Given the description of an element on the screen output the (x, y) to click on. 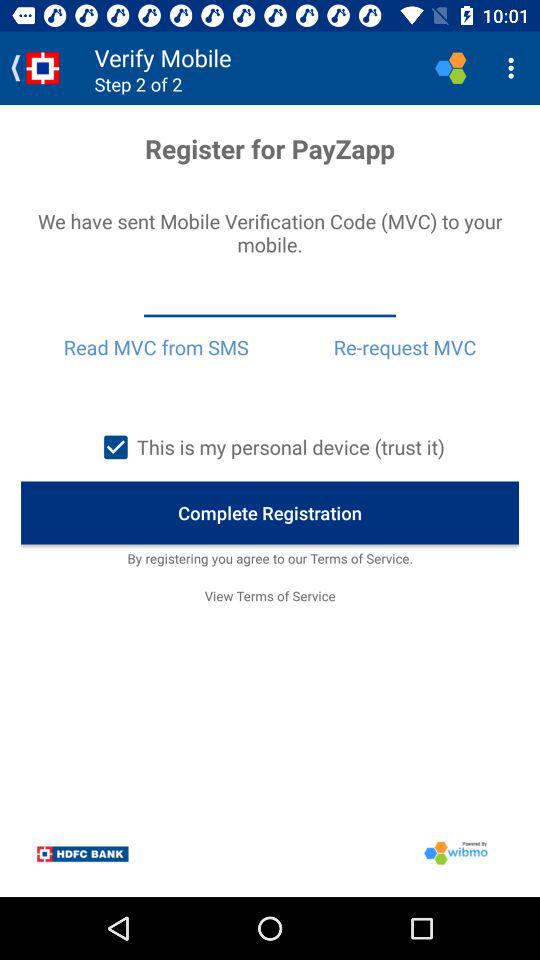
flip until re-request mvc item (404, 347)
